Given the description of an element on the screen output the (x, y) to click on. 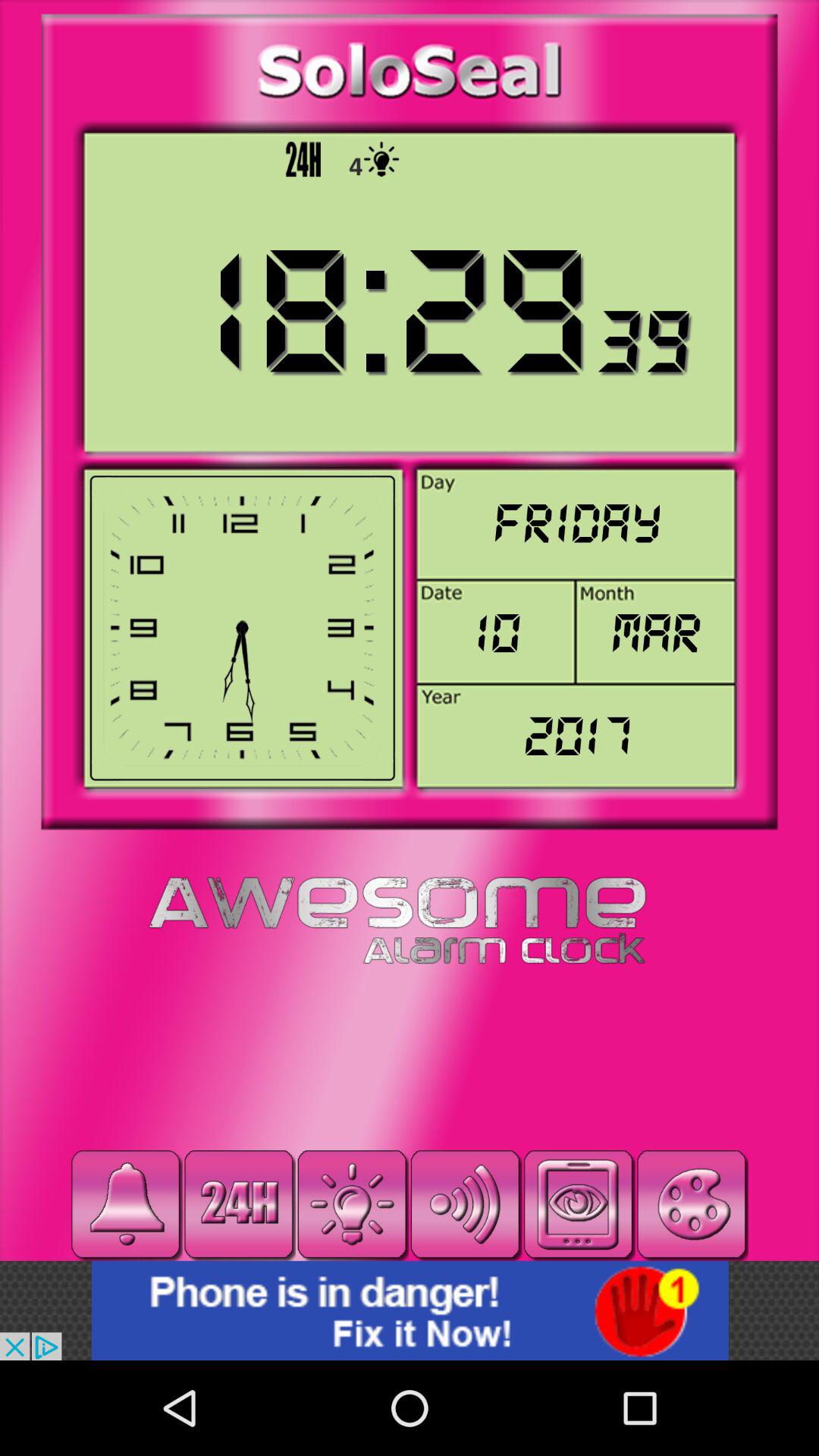
torch light button (351, 1203)
